Given the description of an element on the screen output the (x, y) to click on. 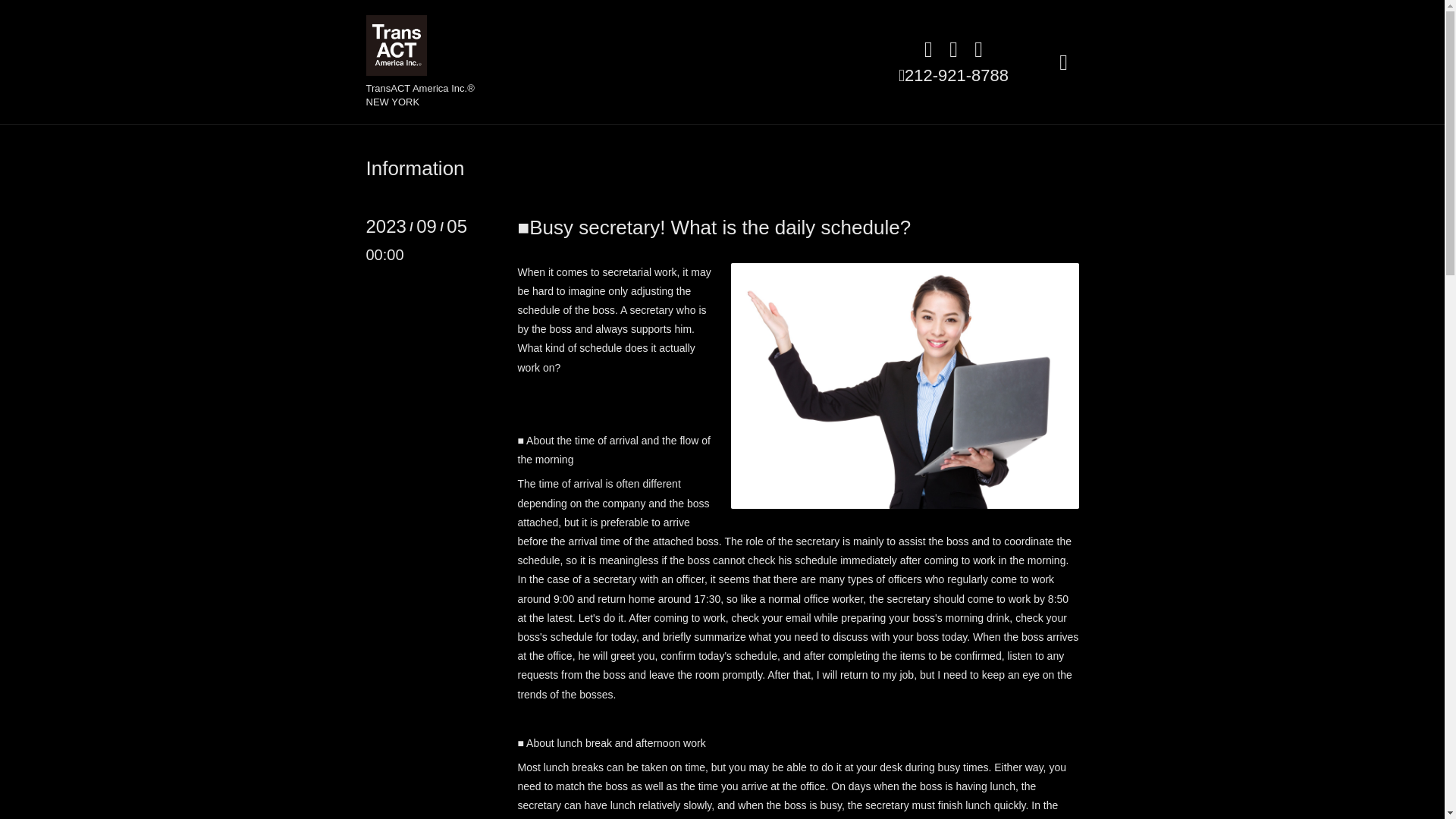
Information (414, 168)
